Given the description of an element on the screen output the (x, y) to click on. 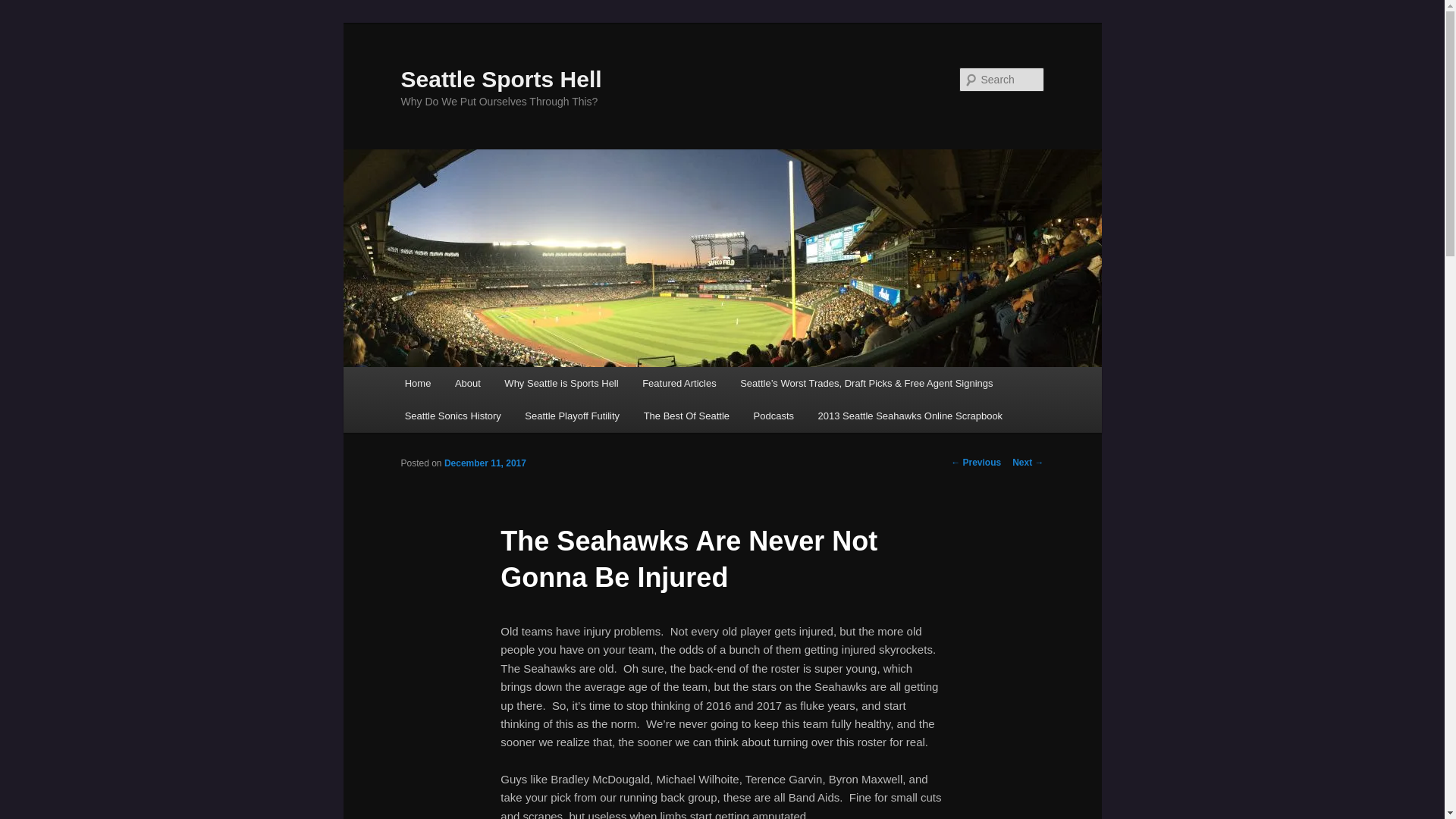
Seattle Sonics History (453, 415)
Search (24, 8)
Featured Articles (679, 382)
Seattle Playoff Futility (572, 415)
8:25 am (484, 462)
Home (417, 382)
About (467, 382)
Seattle Sports Hell (500, 78)
Why Seattle is Sports Hell (561, 382)
